Given the description of an element on the screen output the (x, y) to click on. 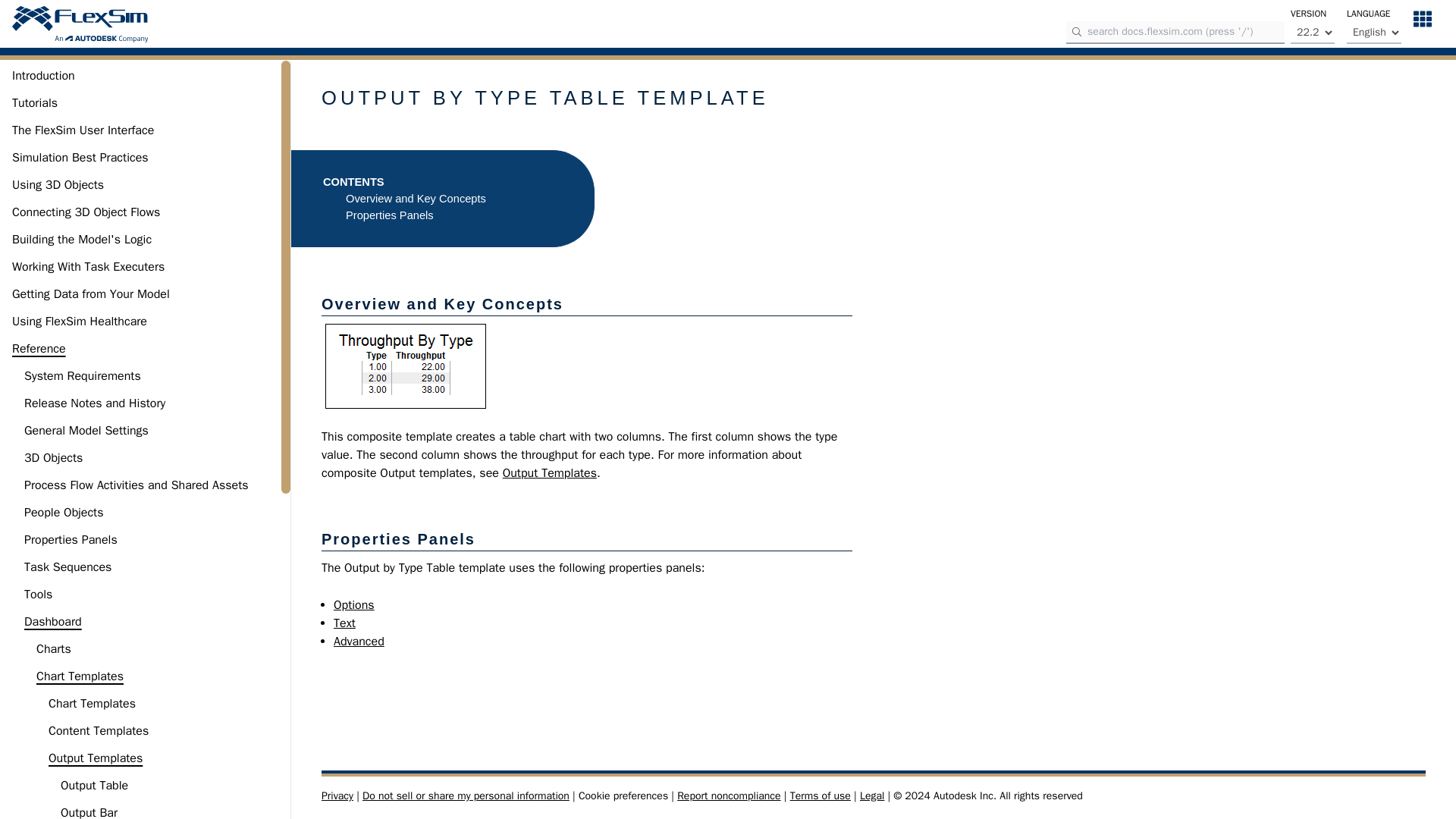
Using 3D Objects (57, 185)
Content Templates (98, 730)
Working With Task Executers (87, 266)
Tutorials (34, 103)
Output Table (94, 785)
People Objects (63, 512)
3D Objects (53, 457)
Introduction (43, 75)
Using FlexSim Healthcare (79, 321)
Building the Model's Logic (81, 239)
Chart Templates (91, 703)
General Model Settings (86, 430)
Properties Panels (70, 539)
Task Sequences (68, 566)
Chart Templates (79, 676)
